Given the description of an element on the screen output the (x, y) to click on. 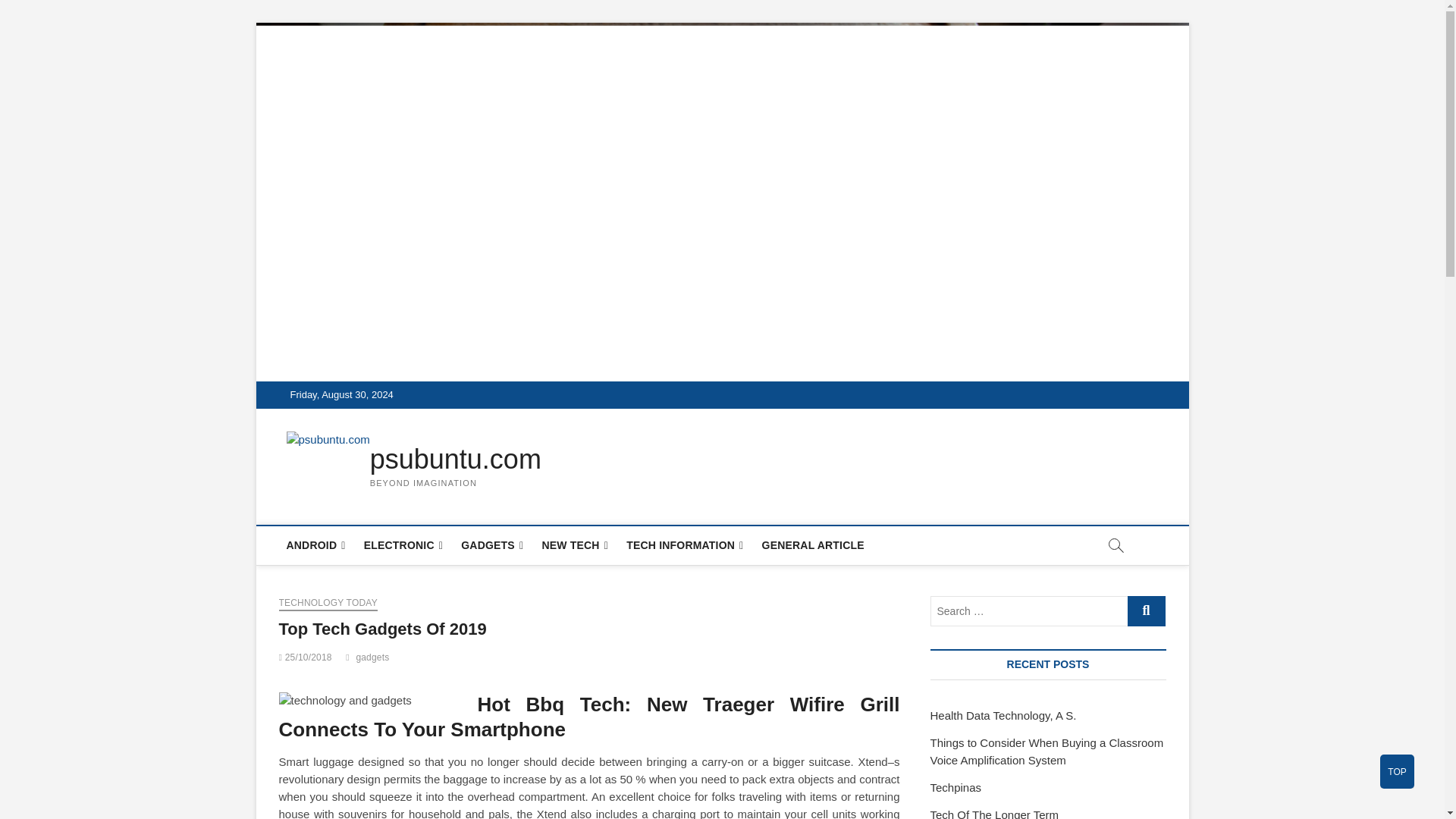
psubuntu.com (455, 459)
TECHNOLOGY TODAY (328, 603)
GADGETS (491, 545)
gadgets (374, 658)
TECH INFORMATION (684, 545)
ANDROID (316, 545)
psubuntu.com (455, 459)
NEW TECH (574, 545)
GENERAL ARTICLE (813, 545)
